Given the description of an element on the screen output the (x, y) to click on. 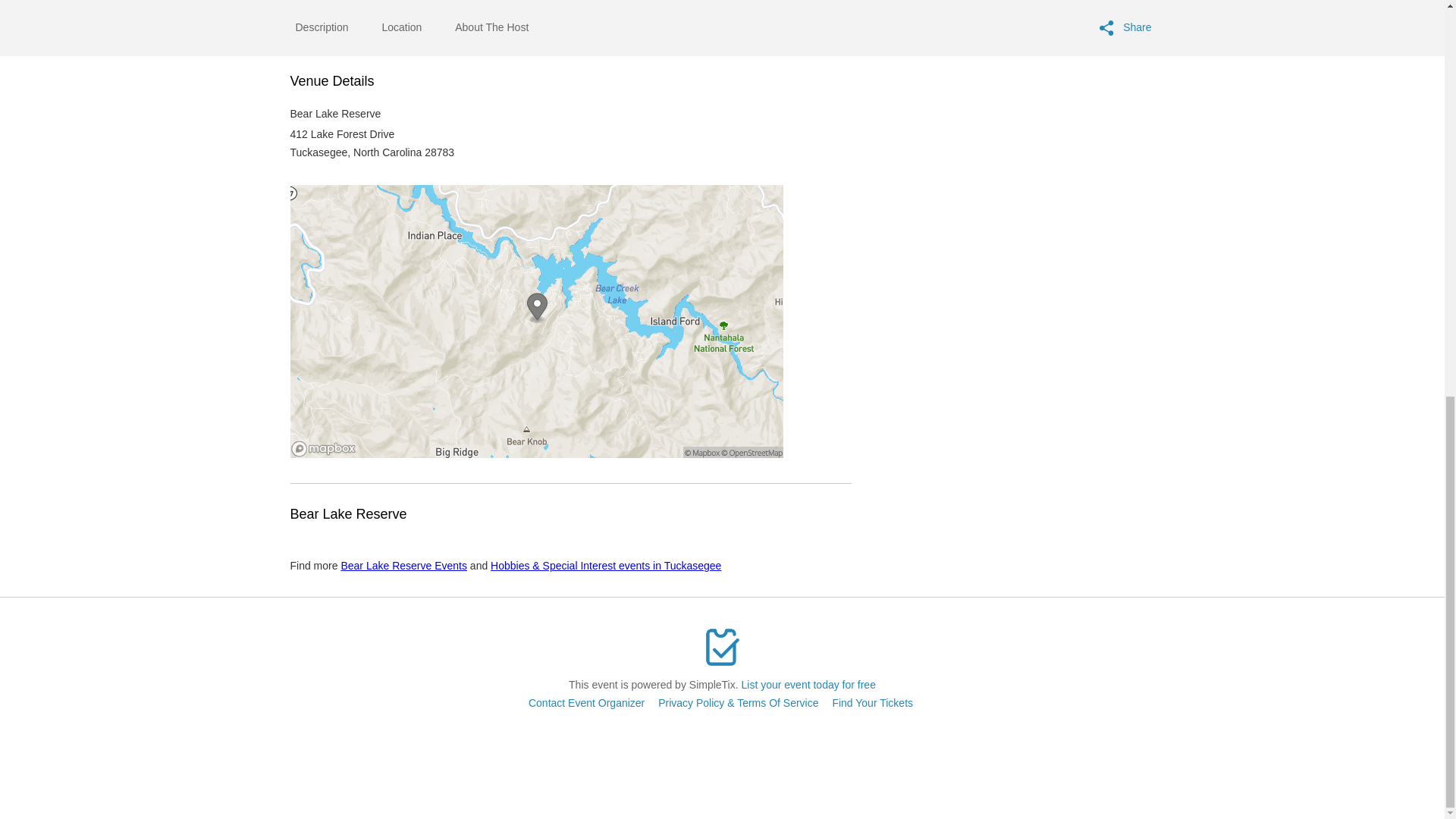
Bear Lake Reserve Events (403, 565)
Contact Event Organizer (586, 702)
Find Your Tickets (871, 702)
Powered by SimpleTix (721, 646)
Contact Event Organizer (586, 702)
List your event today for free (808, 684)
List your event today for free (808, 684)
Find Your Tickets (871, 702)
